Given the description of an element on the screen output the (x, y) to click on. 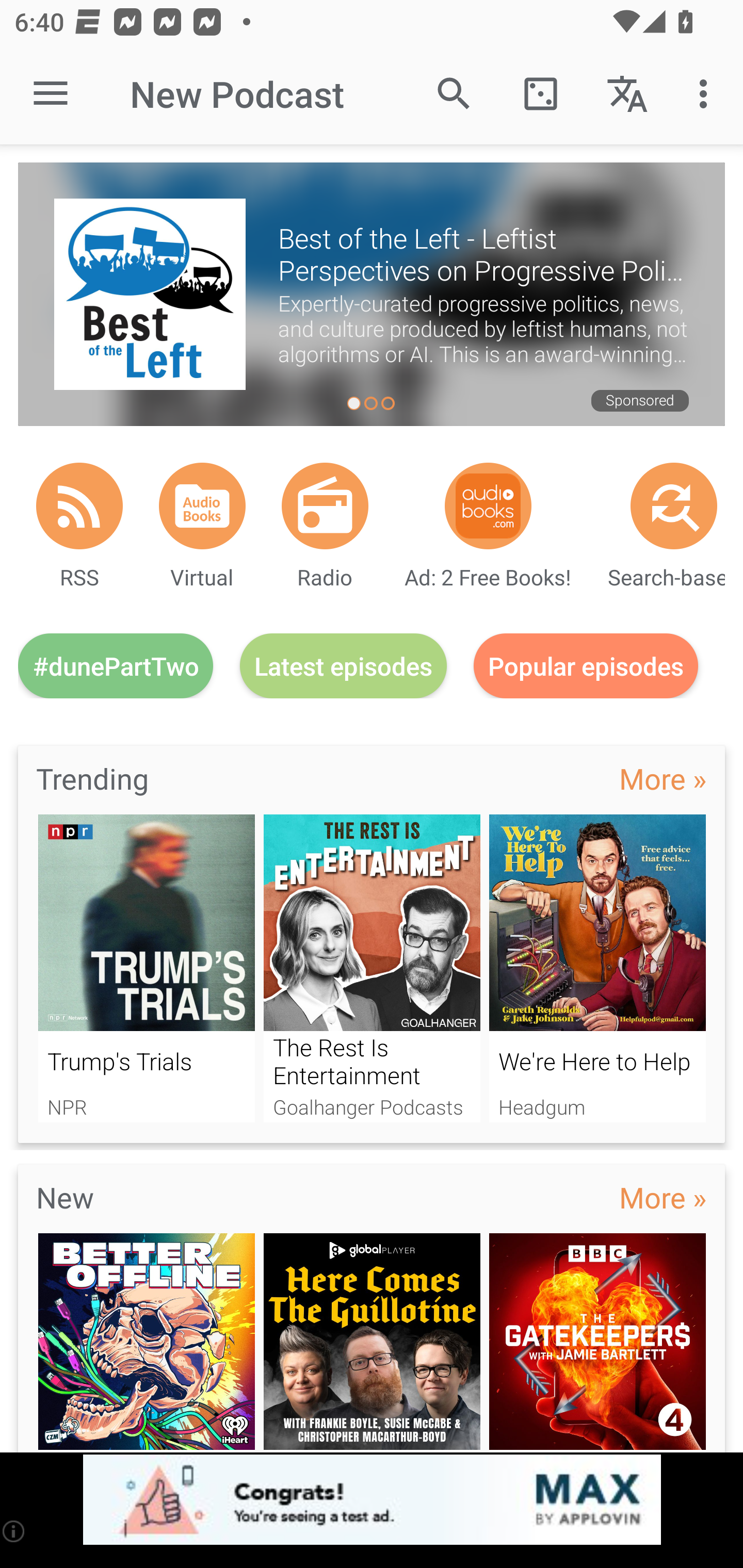
Open navigation sidebar (50, 93)
Search (453, 93)
Random pick (540, 93)
Podcast languages (626, 93)
More options (706, 93)
RSS (79, 505)
Virtual (202, 505)
Radio (324, 505)
Search-based (673, 505)
#dunePartTwo (115, 665)
Latest episodes (342, 665)
Popular episodes (586, 665)
More » (662, 778)
Trump's Trials NPR (145, 967)
The Rest Is Entertainment Goalhanger Podcasts (371, 967)
We're Here to Help Headgum (596, 967)
More » (662, 1196)
Better Offline (145, 1342)
Here Comes The Guillotine (371, 1342)
The Gatekeepers (596, 1342)
app-monetization (371, 1500)
(i) (14, 1531)
